Given the description of an element on the screen output the (x, y) to click on. 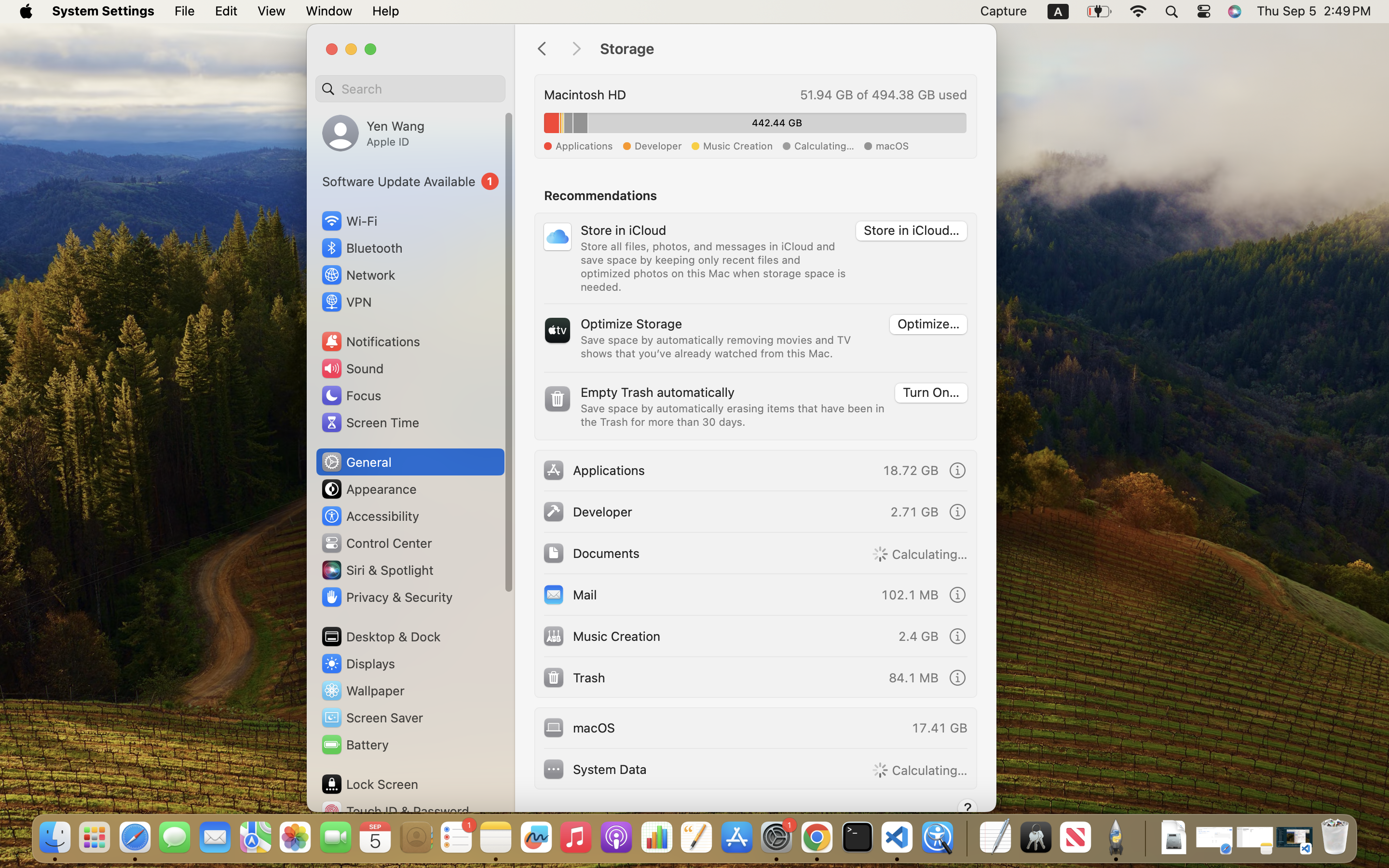
Yen Wang, Apple ID Element type: AXStaticText (373, 132)
Bluetooth Element type: AXStaticText (361, 247)
Screen Saver Element type: AXStaticText (371, 717)
Trash Element type: AXStaticText (573, 676)
Battery Element type: AXStaticText (354, 744)
